Given the description of an element on the screen output the (x, y) to click on. 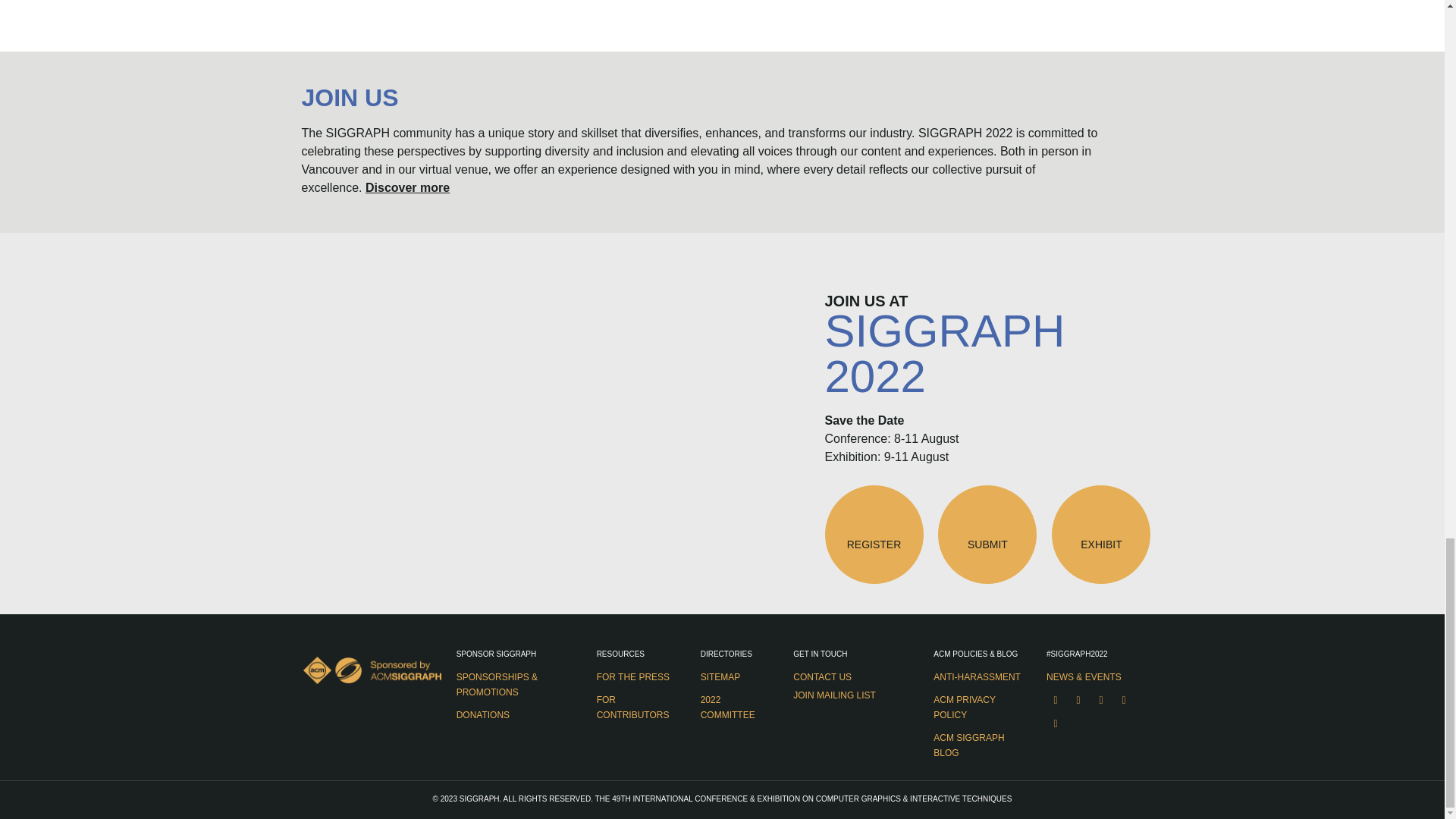
SUBMIT (986, 534)
Discover more (407, 187)
EXHIBIT (1100, 534)
REGISTER (874, 534)
